Given the description of an element on the screen output the (x, y) to click on. 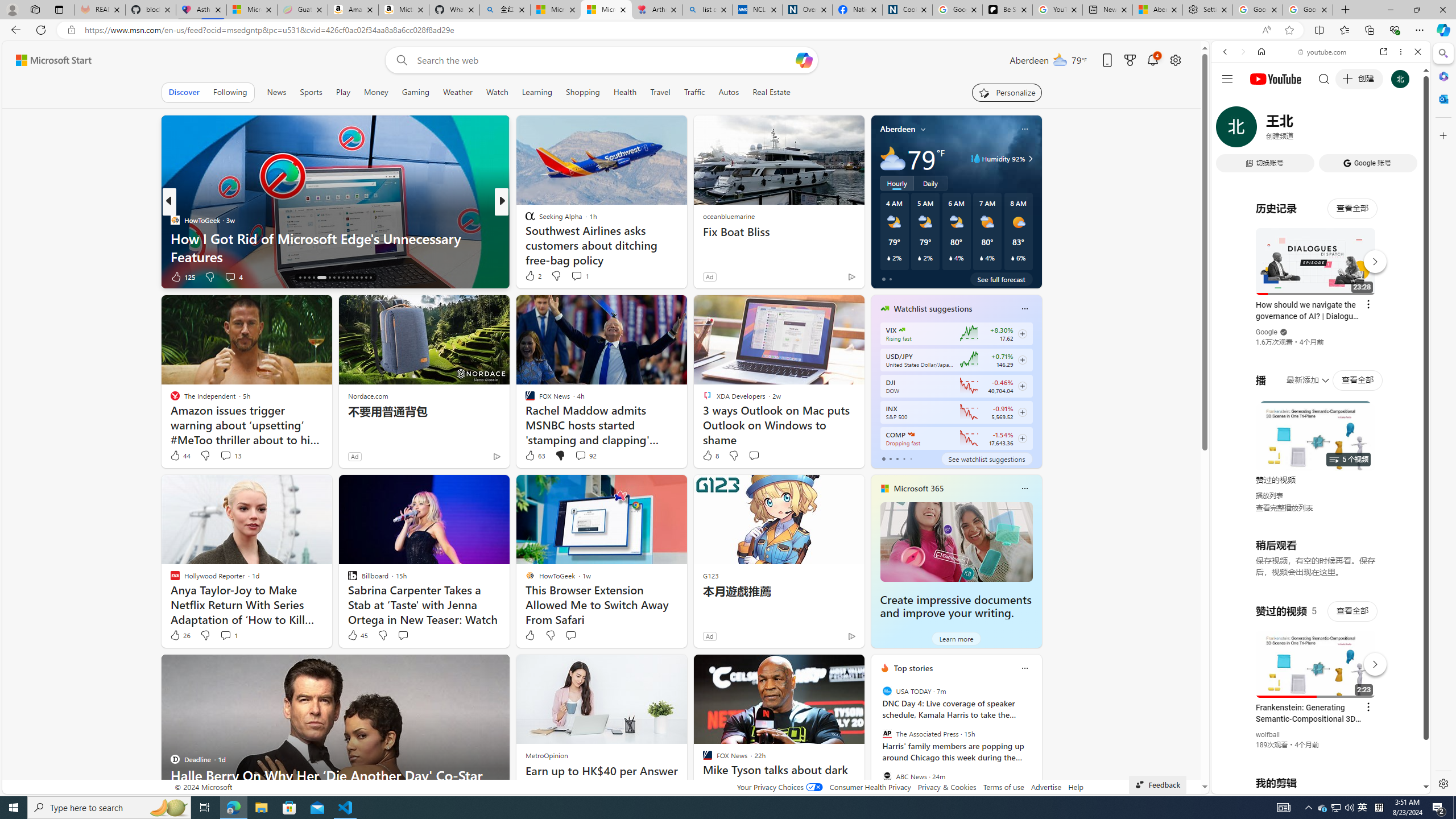
View comments 9 Comment (580, 276)
119 Like (532, 276)
View comments 4 Comment (229, 276)
next (1035, 741)
Scripps News (524, 219)
AutomationID: tab-18 (309, 277)
View comments 7 Comment (583, 276)
Class: dict_pnIcon rms_img (1312, 784)
The Independent (524, 219)
